Given the description of an element on the screen output the (x, y) to click on. 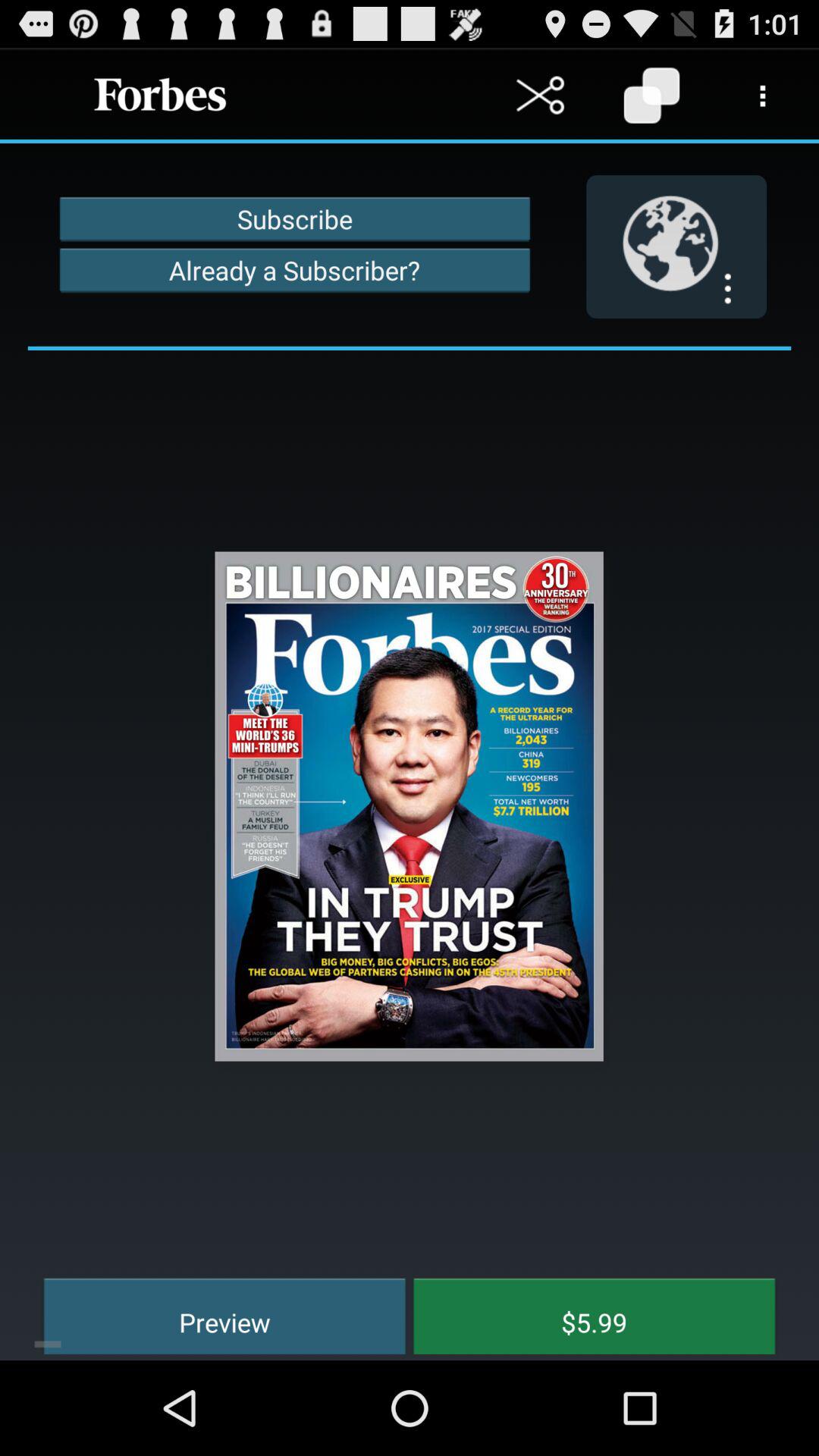
flip to $5.99 icon (583, 1314)
